Given the description of an element on the screen output the (x, y) to click on. 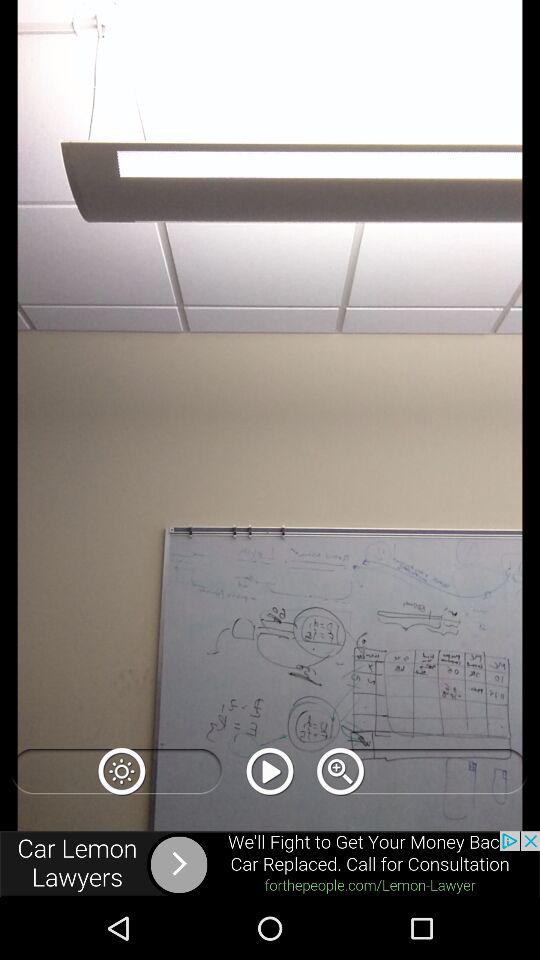
open advertisement (270, 864)
